Given the description of an element on the screen output the (x, y) to click on. 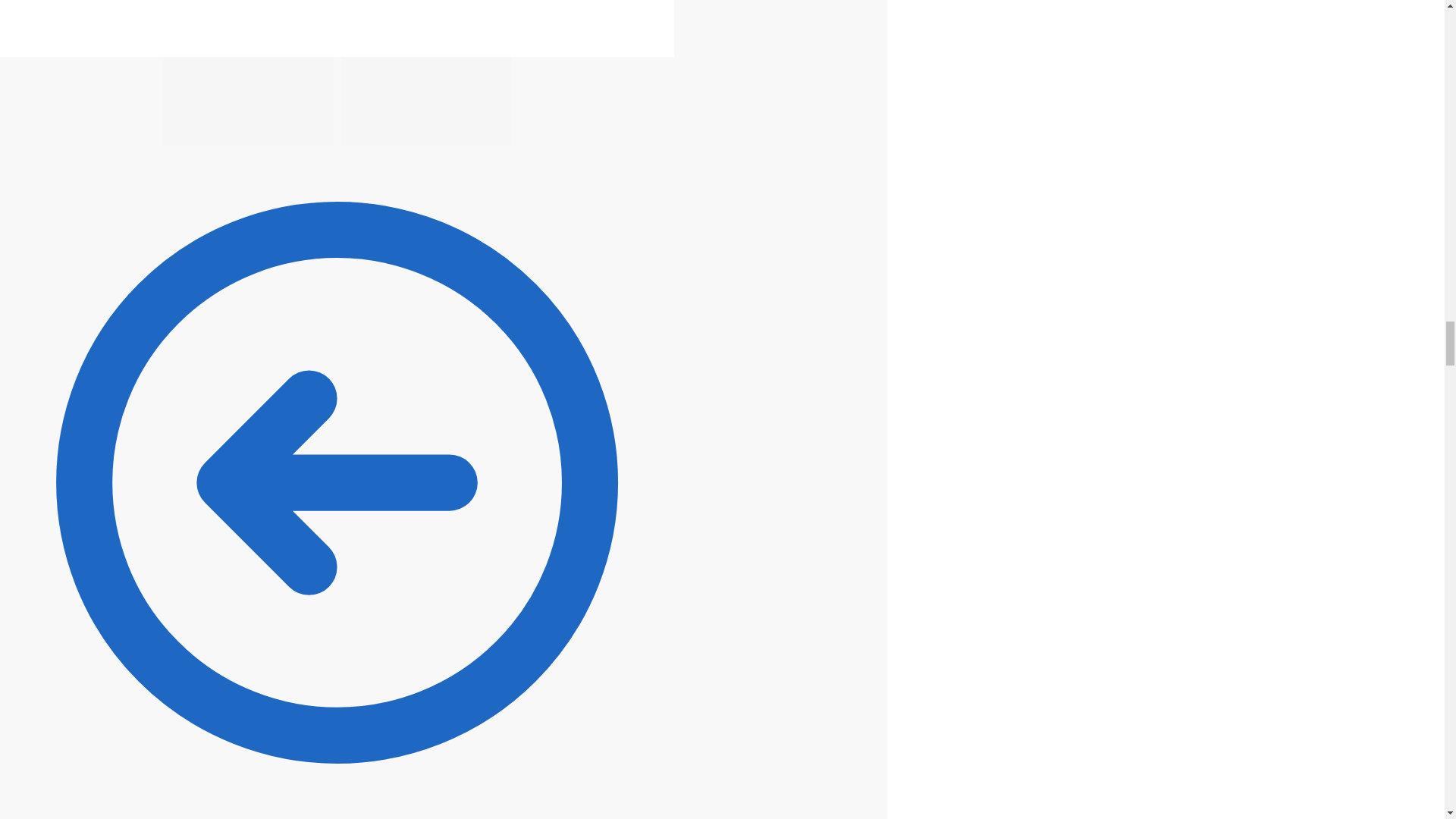
click to zoom-in (337, 28)
FiveM Gang Bunker (426, 100)
FiveM Bunker MLO (248, 100)
